Given the description of an element on the screen output the (x, y) to click on. 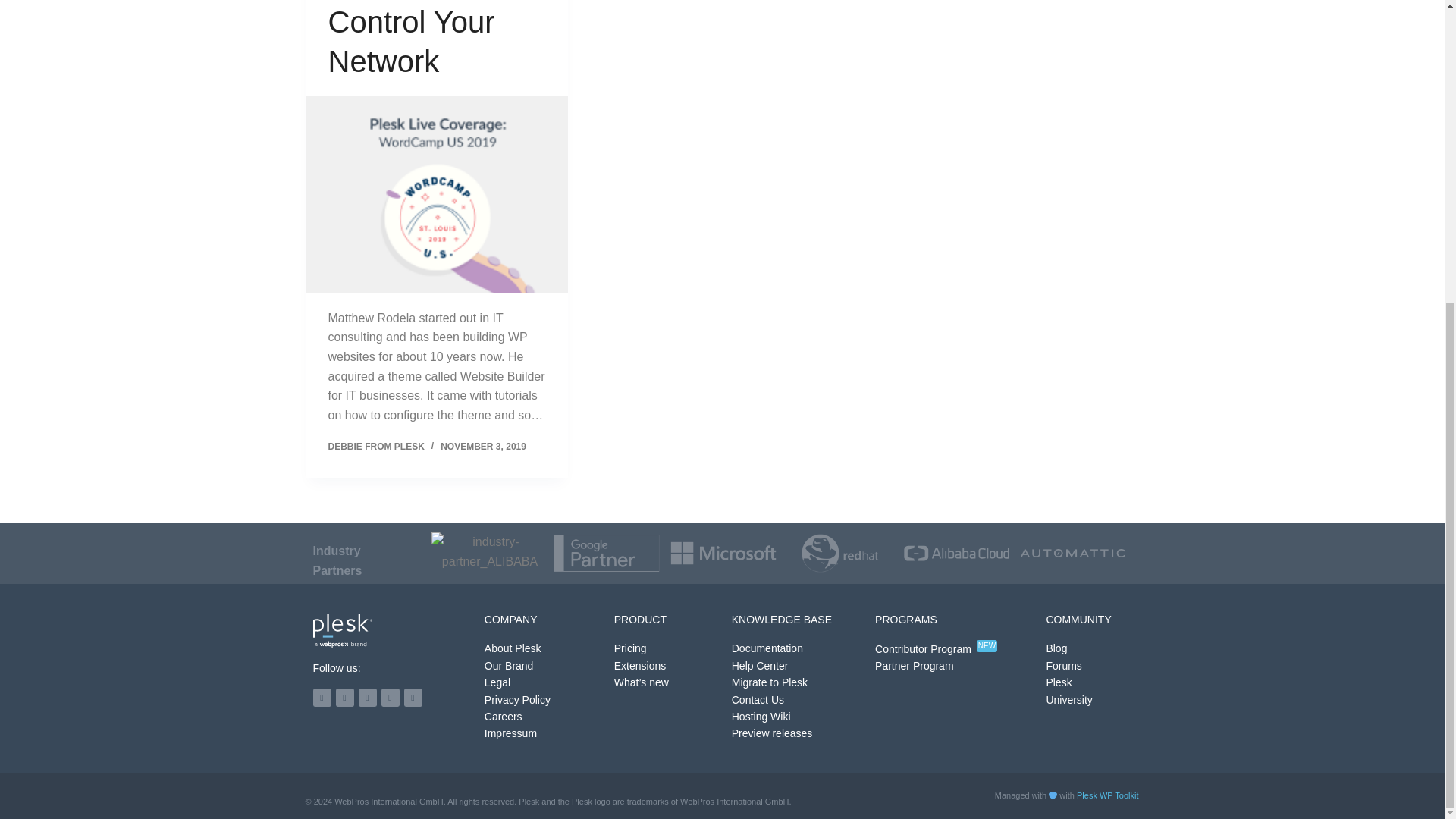
Posts by Debbie from Plesk (375, 446)
